Given the description of an element on the screen output the (x, y) to click on. 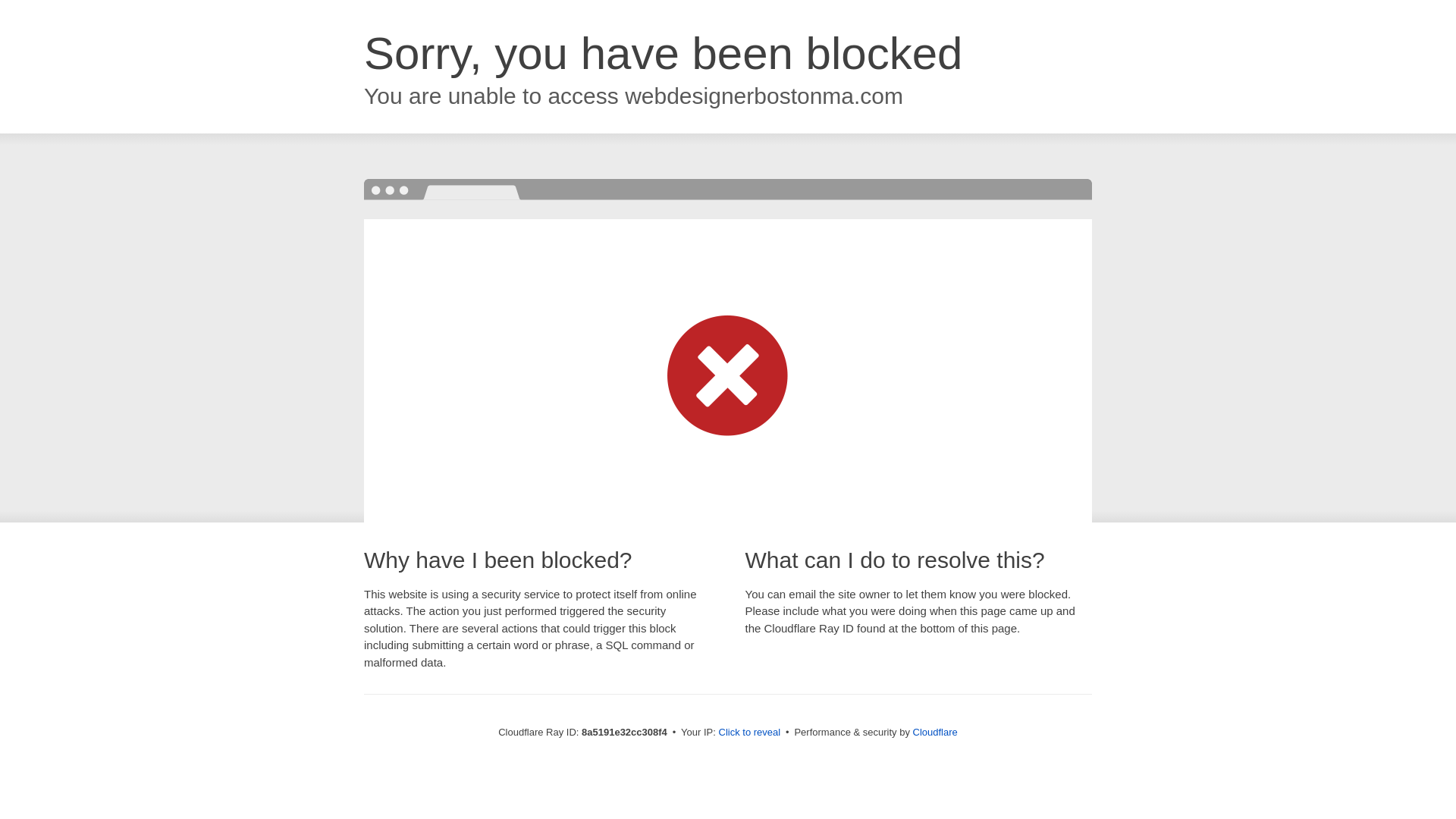
Click to reveal (749, 732)
Cloudflare (935, 731)
